Given the description of an element on the screen output the (x, y) to click on. 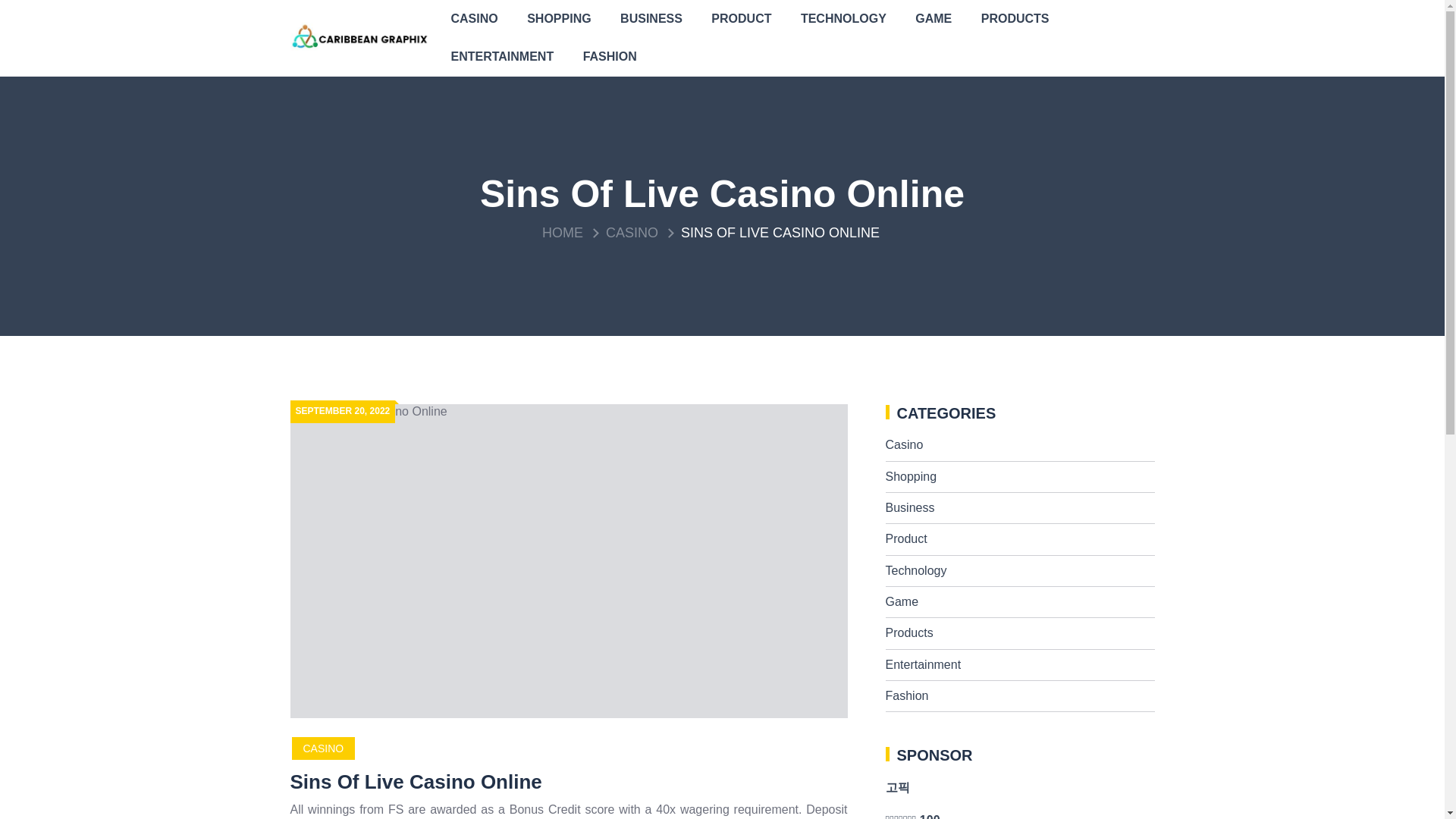
ENTERTAINMENT (502, 56)
CARIBBEAN (504, 47)
Fashion (906, 695)
SHOPPING (558, 18)
GAME (932, 18)
BUSINESS (651, 18)
Technology (916, 570)
CASINO (474, 18)
Entertainment (922, 664)
TECHNOLOGY (843, 18)
